Given the description of an element on the screen output the (x, y) to click on. 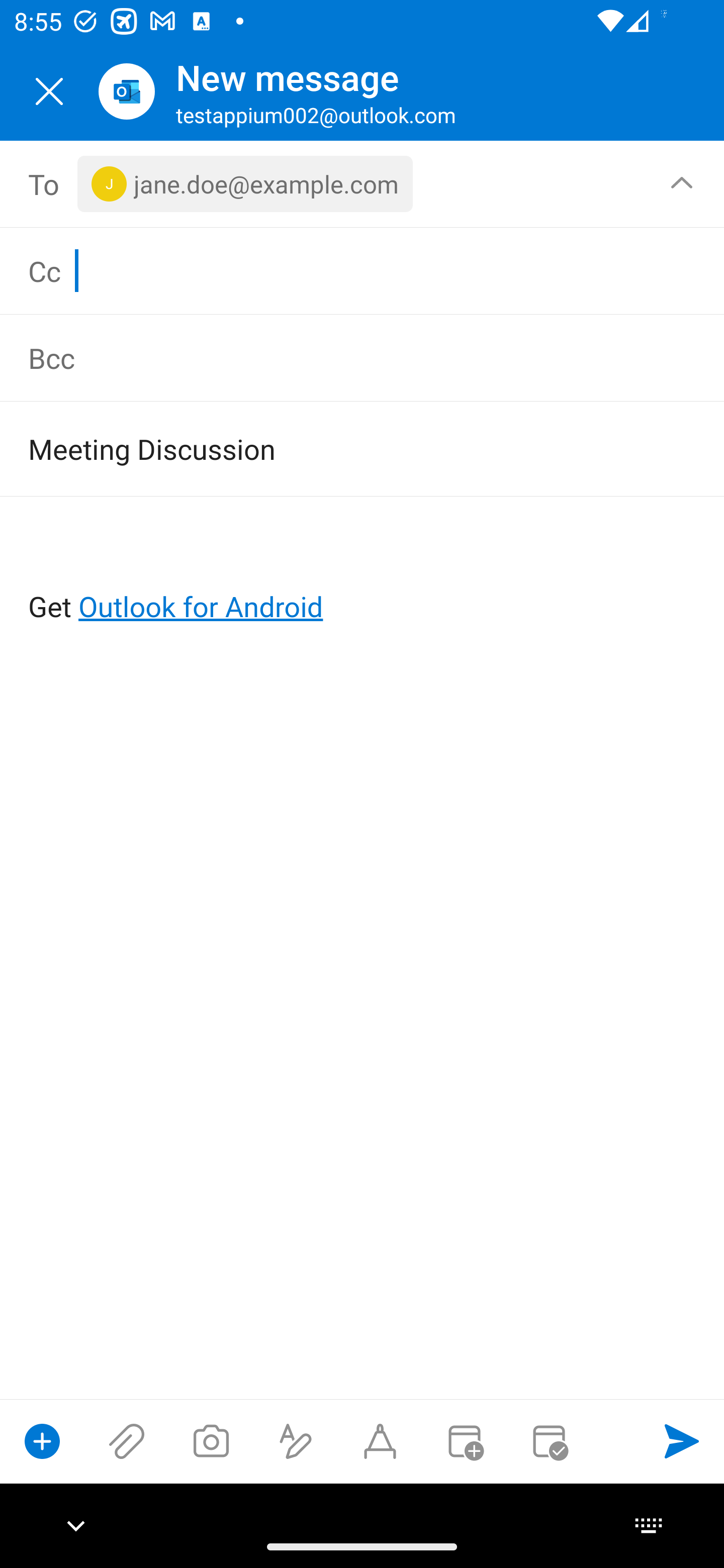
Close (49, 91)
To, 1 recipient <jane.doe@example.com> (362, 184)
Meeting Discussion (333, 448)


Get Outlook for Android (363, 573)
Show compose options (42, 1440)
Attach files (126, 1440)
Take a photo (210, 1440)
Show formatting options (295, 1440)
Start Ink compose (380, 1440)
Convert to event (464, 1440)
Send availability (548, 1440)
Send (681, 1440)
